Given the description of an element on the screen output the (x, y) to click on. 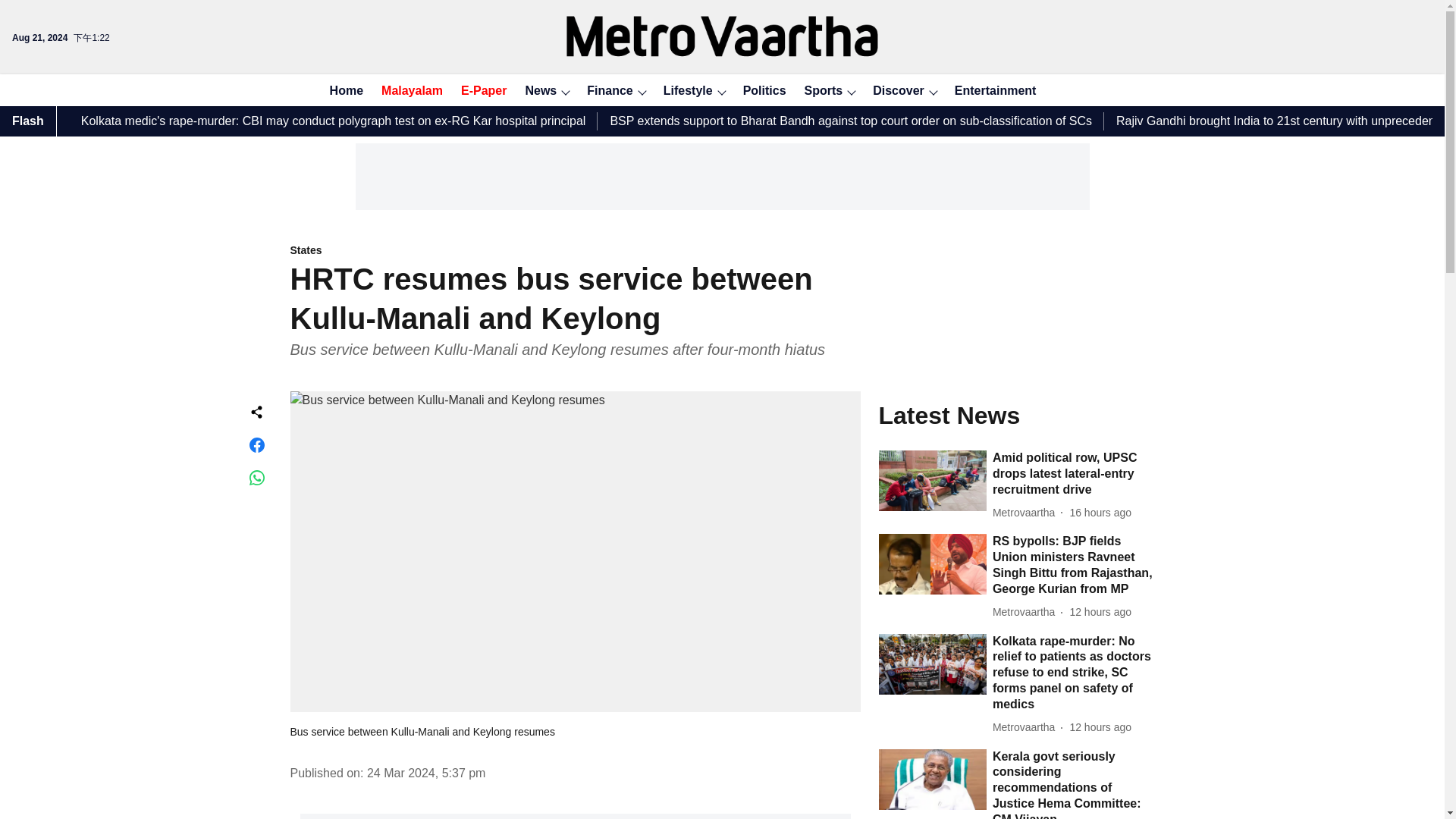
States (574, 251)
Discover (893, 91)
E-Paper (478, 91)
Finance (604, 91)
News (535, 91)
Metrovaartha (1026, 611)
Dark Mode (1110, 89)
2024-08-20 13:30 (1099, 512)
Metrovaartha (1026, 512)
